Given the description of an element on the screen output the (x, y) to click on. 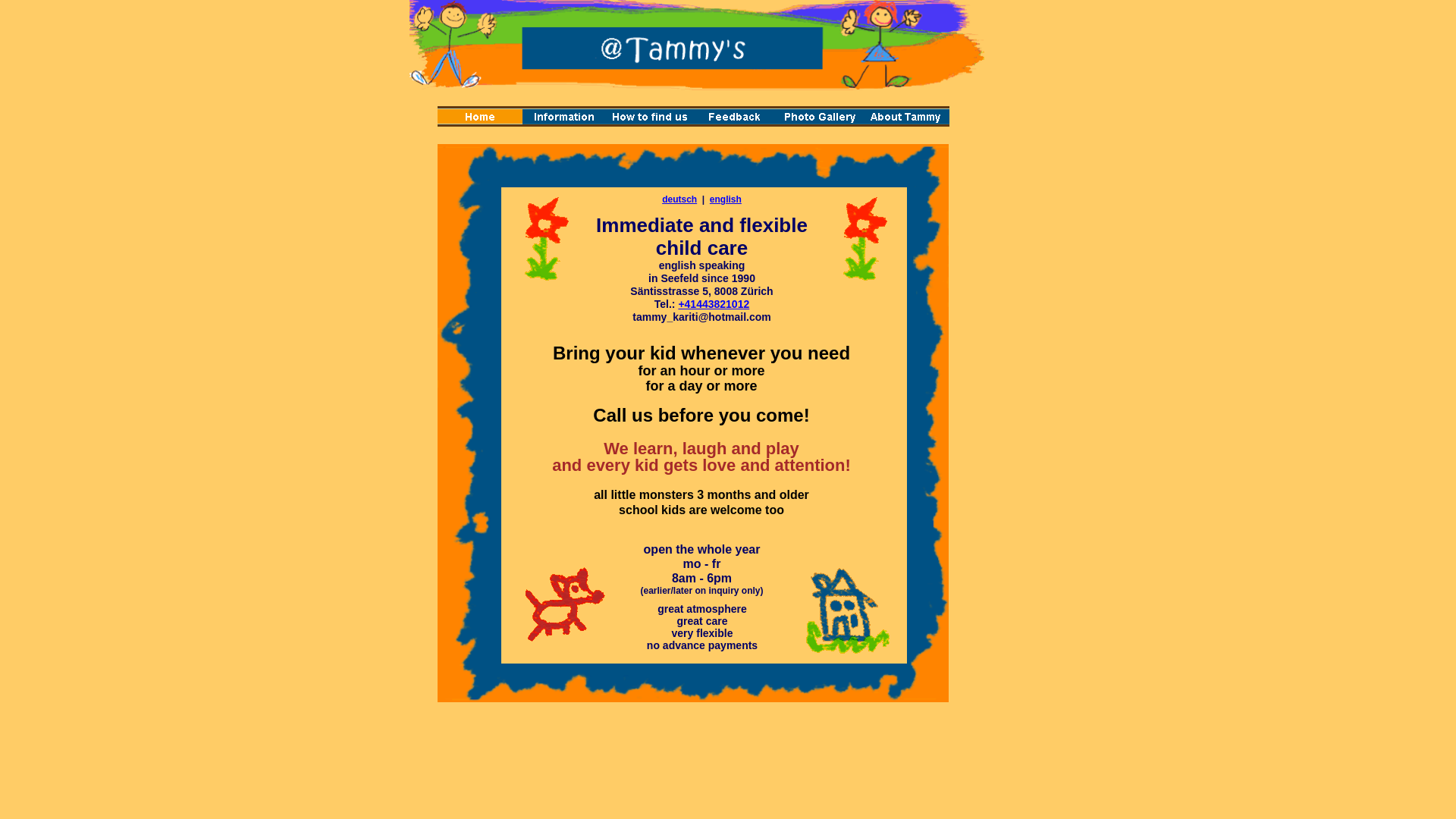
deutsch Element type: text (679, 199)
english Element type: text (725, 199)
+41443821012 Element type: text (713, 304)
